Given the description of an element on the screen output the (x, y) to click on. 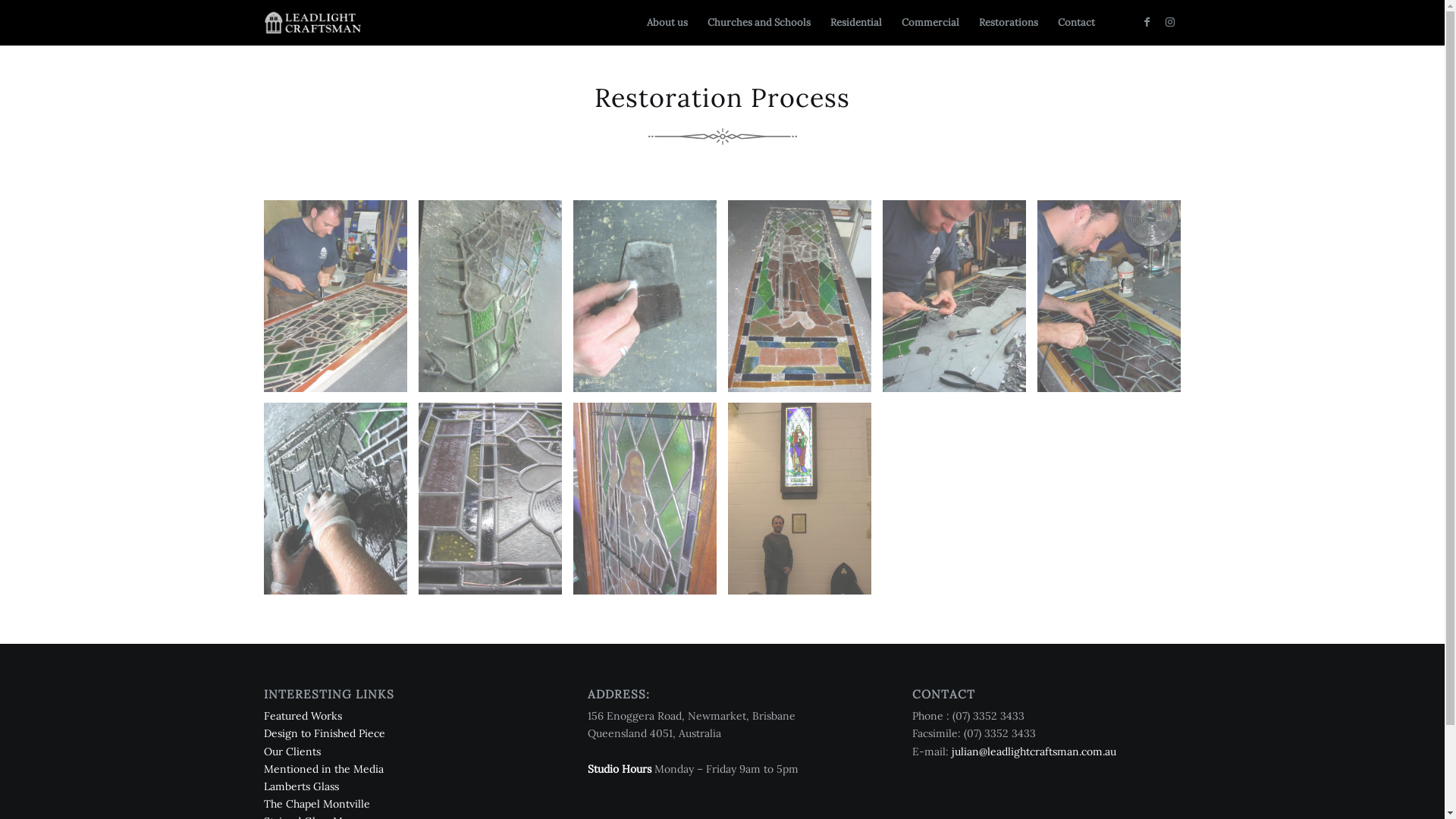
7-soldering Element type: hover (1108, 295)
9-new-tie-wires Element type: hover (495, 503)
4-cleaning-of-glass Element type: hover (644, 295)
11-finished-piece Element type: hover (805, 503)
6-releading Element type: hover (959, 301)
7-soldering Element type: hover (1114, 301)
Residential Element type: text (855, 22)
Featured Works Element type: text (302, 715)
3-disassembling Element type: hover (489, 295)
Facebook Element type: hover (1146, 21)
10-saddle-bars-and-back-into-timber-frame Element type: hover (650, 503)
8-puttying-waterproofing Element type: hover (340, 503)
Commercial Element type: text (930, 22)
Instagram Element type: hover (1169, 21)
About us Element type: text (667, 22)
1-removal-from-timber-frame Element type: hover (335, 295)
Mentioned in the Media Element type: text (323, 768)
5-half-panel-cleaned Element type: hover (805, 301)
11-finished-piece Element type: hover (799, 498)
10-saddle-bars-and-back-into-timber-frame Element type: hover (644, 498)
3-disassembling Element type: hover (495, 301)
5-half-panel-cleaned Element type: hover (799, 295)
julian@leadlightcraftsman.com.au Element type: text (1033, 751)
Churches and Schools Element type: text (758, 22)
Lamberts Glass Element type: text (300, 786)
9-new-tie-wires Element type: hover (489, 498)
under-title Element type: hover (721, 136)
Design to Finished Piece Element type: text (324, 733)
4-cleaning-of-glass Element type: hover (650, 301)
Restorations Element type: text (1008, 22)
1-removal-from-timber-frame Element type: hover (340, 301)
Contact Element type: text (1076, 22)
The Chapel Montville Element type: text (316, 803)
6-releading Element type: hover (954, 295)
8-puttying-waterproofing Element type: hover (335, 497)
Our Clients Element type: text (291, 751)
